Given the description of an element on the screen output the (x, y) to click on. 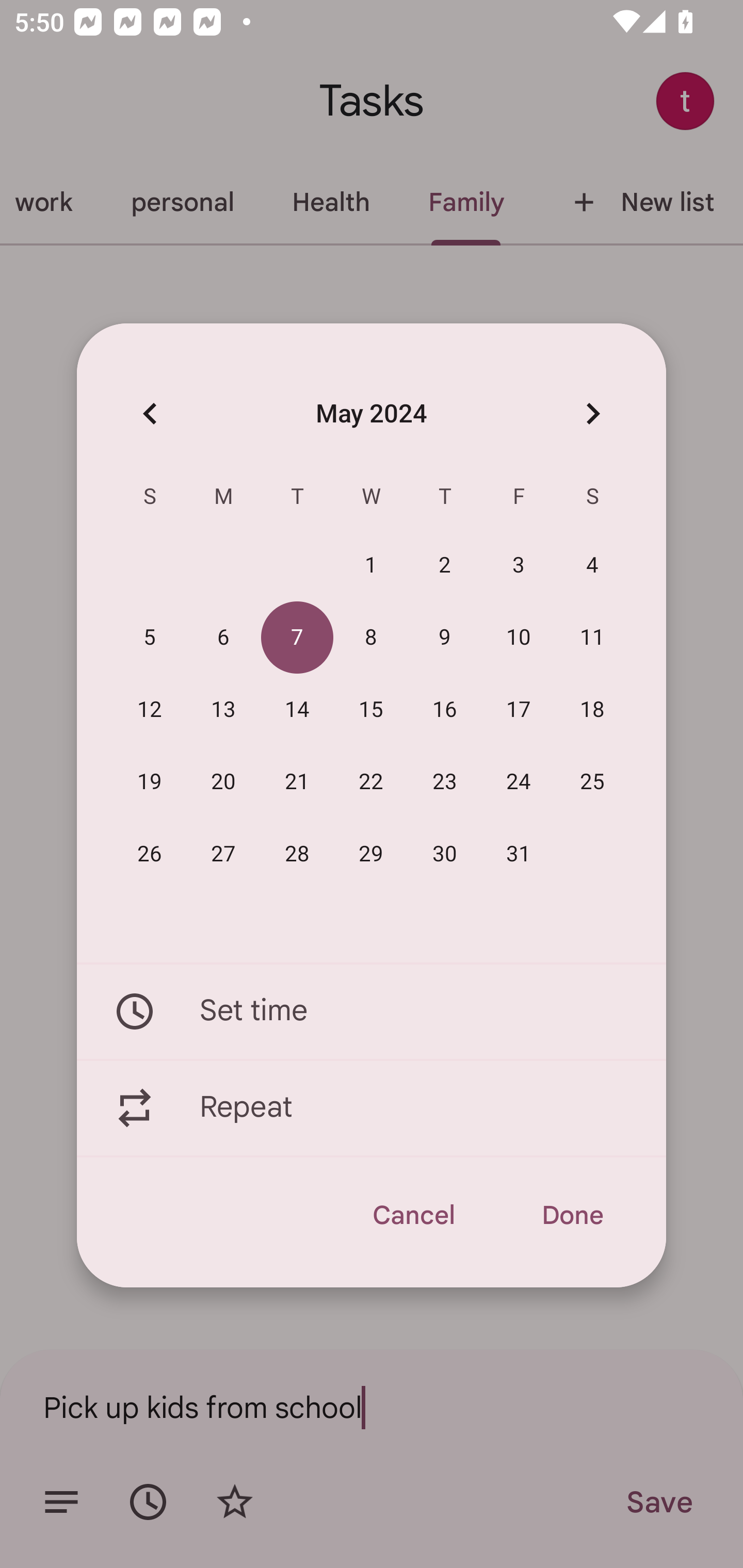
Previous month (149, 413)
Next month (592, 413)
1 01 May 2024 (370, 565)
2 02 May 2024 (444, 565)
3 03 May 2024 (518, 565)
4 04 May 2024 (592, 565)
5 05 May 2024 (149, 638)
6 06 May 2024 (223, 638)
7 07 May 2024 (297, 638)
8 08 May 2024 (370, 638)
9 09 May 2024 (444, 638)
10 10 May 2024 (518, 638)
11 11 May 2024 (592, 638)
12 12 May 2024 (149, 710)
13 13 May 2024 (223, 710)
14 14 May 2024 (297, 710)
15 15 May 2024 (370, 710)
16 16 May 2024 (444, 710)
17 17 May 2024 (518, 710)
18 18 May 2024 (592, 710)
19 19 May 2024 (149, 782)
20 20 May 2024 (223, 782)
21 21 May 2024 (297, 782)
22 22 May 2024 (370, 782)
23 23 May 2024 (444, 782)
24 24 May 2024 (518, 782)
25 25 May 2024 (592, 782)
26 26 May 2024 (149, 854)
27 27 May 2024 (223, 854)
28 28 May 2024 (297, 854)
29 29 May 2024 (370, 854)
30 30 May 2024 (444, 854)
31 31 May 2024 (518, 854)
Set time (371, 1011)
Repeat (371, 1108)
Cancel (412, 1215)
Done (571, 1215)
